Given the description of an element on the screen output the (x, y) to click on. 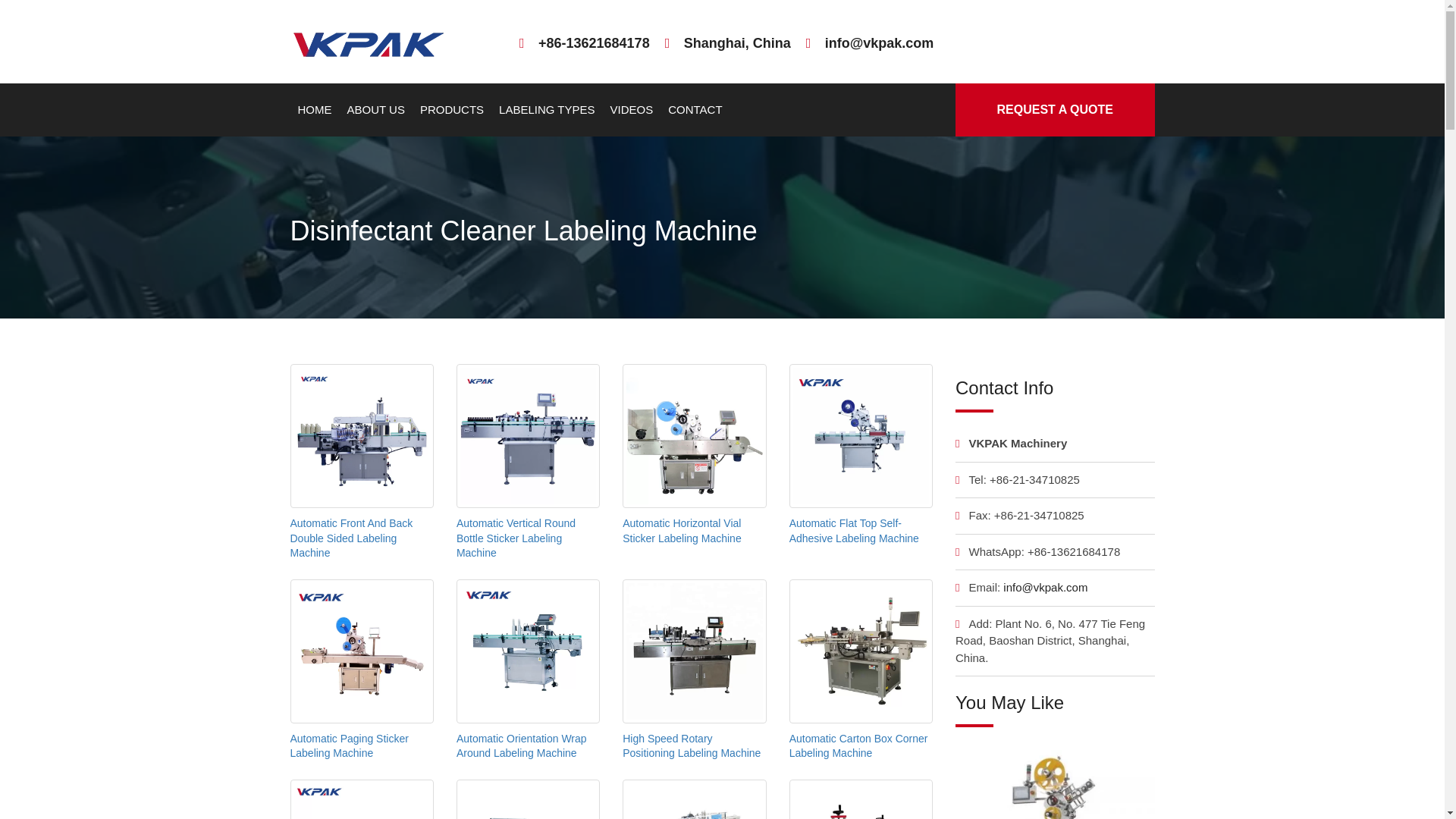
CONTACT (695, 109)
Automatic Horizontal Vial Sticker Labeling Machine (682, 530)
VIDEOS (631, 109)
Automatic Orientation Wrap Around Labeling Machine (521, 746)
HOME (314, 109)
Automatic Front And Back Double Sided Labeling Machine (350, 537)
Automatic Flat Top Self-Adhesive Labeling Machine (853, 530)
Automatic Paging Sticker Labeling Machine (348, 746)
PRODUCTS (452, 109)
Automatic Vertical Round Bottle Sticker Labeling Machine (516, 537)
